Given the description of an element on the screen output the (x, y) to click on. 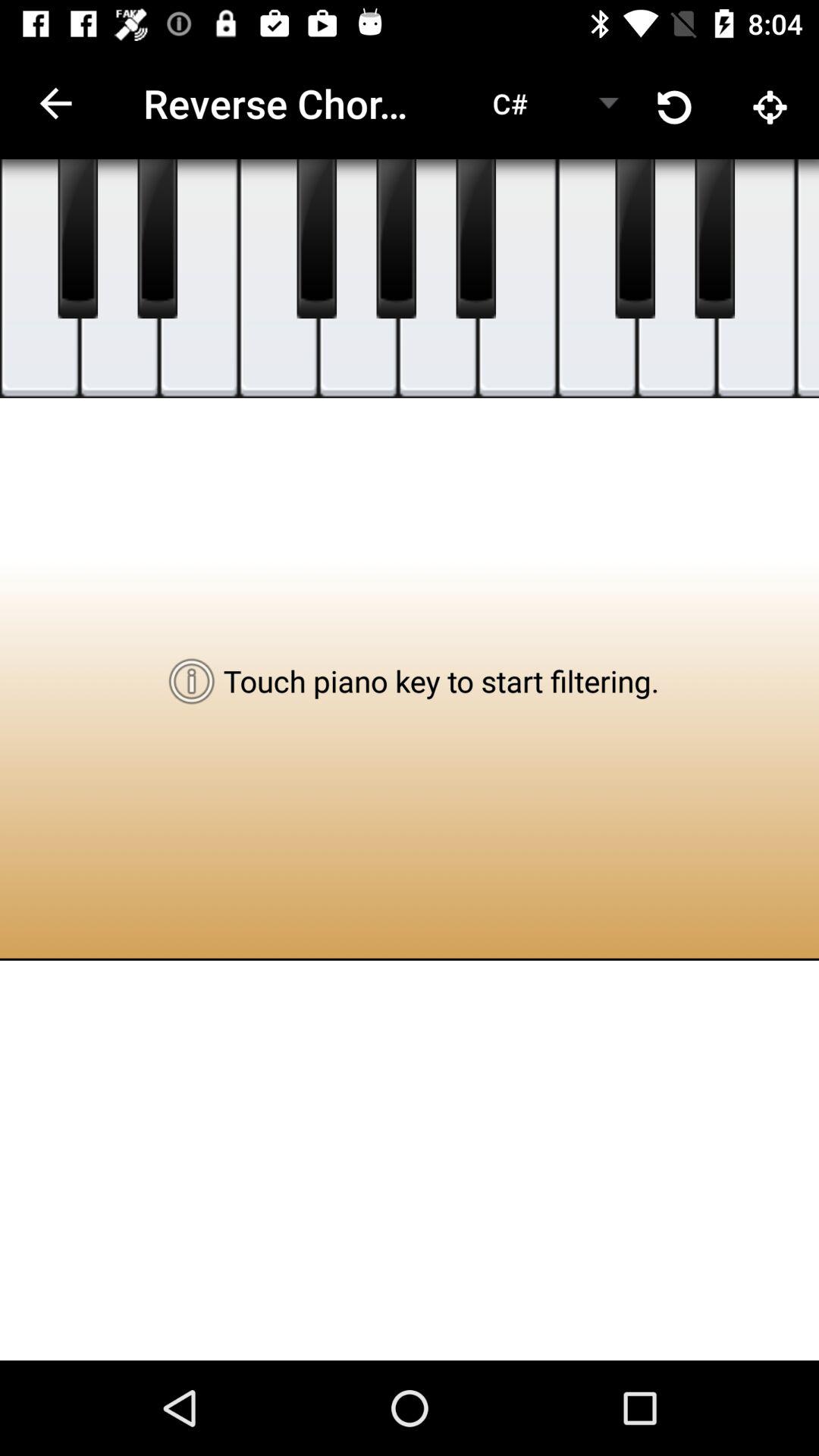
piano key (807, 278)
